Given the description of an element on the screen output the (x, y) to click on. 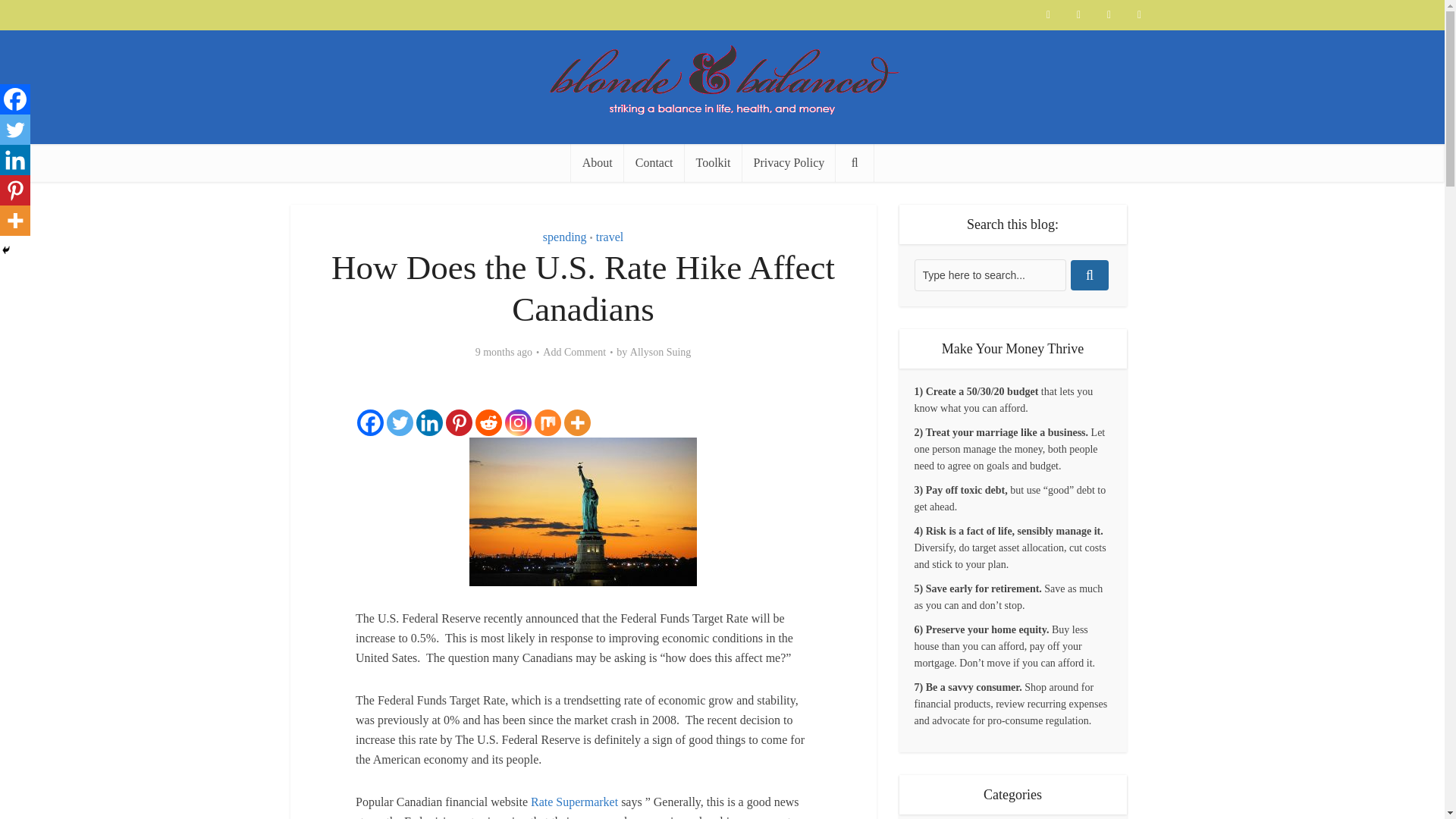
Instagram (518, 422)
More (577, 422)
Add Comment (574, 352)
Linkedin (15, 159)
Allyson Suing (660, 352)
Type here to search... (989, 275)
spending (564, 236)
travel (609, 236)
Linkedin (429, 422)
Reddit (489, 422)
More (15, 220)
Twitter (400, 422)
Mix (547, 422)
Pinterest (458, 422)
Toolkit (712, 162)
